Given the description of an element on the screen output the (x, y) to click on. 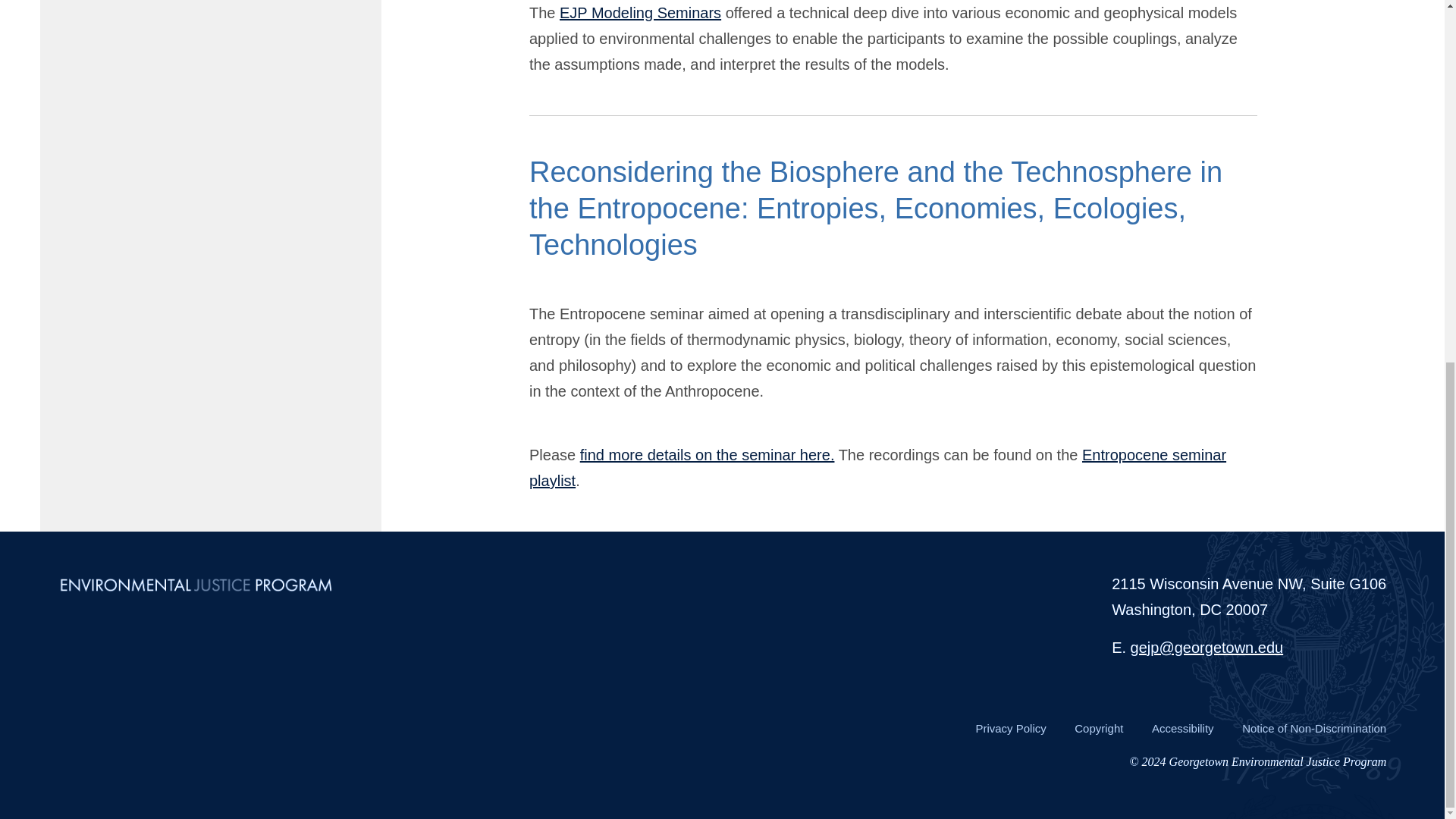
find more details on the seminar here. (706, 454)
EJP Modeling Seminars (639, 12)
Entropocene seminar playlist (877, 467)
